Given the description of an element on the screen output the (x, y) to click on. 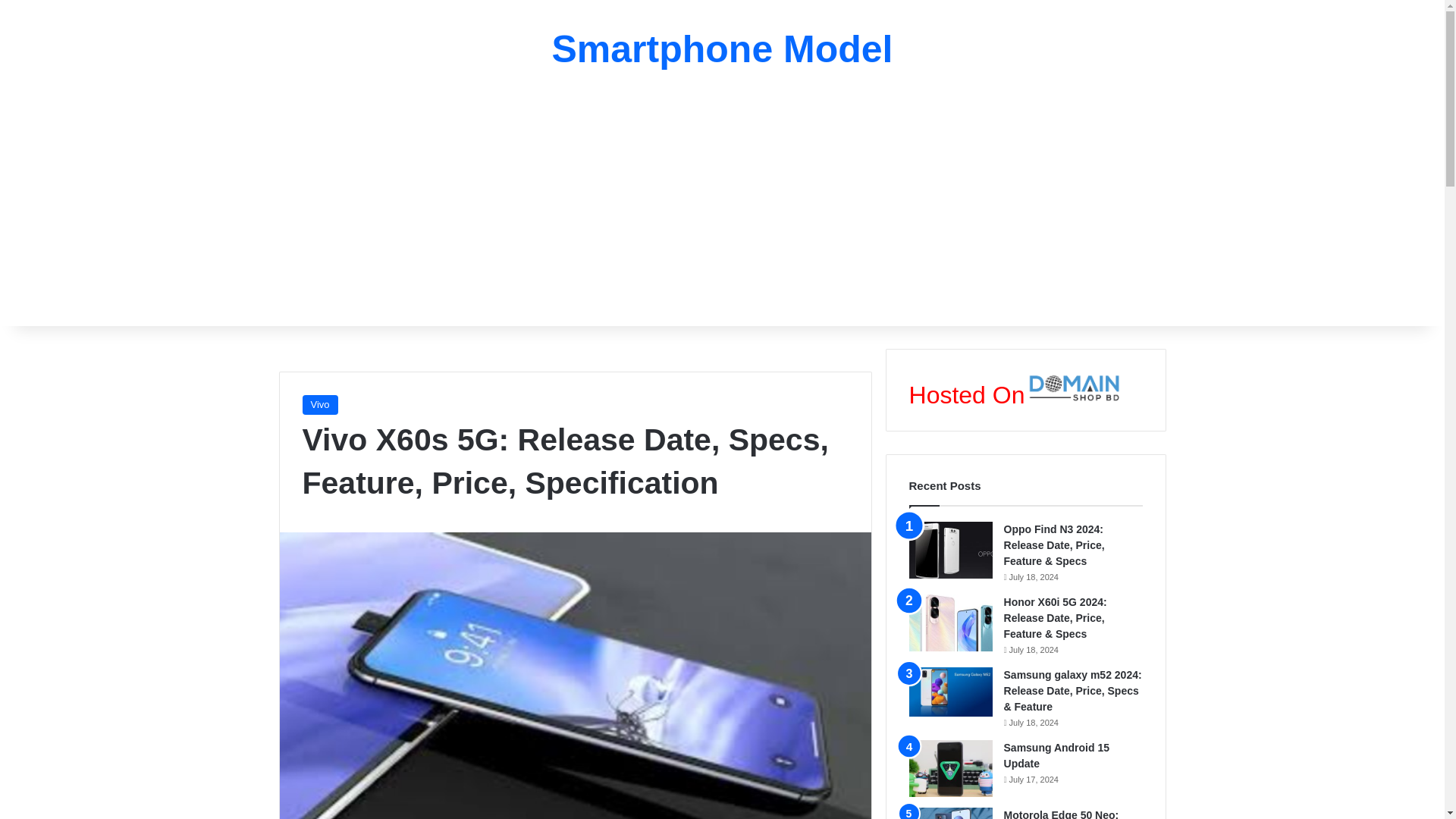
Vivo (319, 404)
Smartphone Model (721, 48)
Smartphone Model (721, 48)
